Given the description of an element on the screen output the (x, y) to click on. 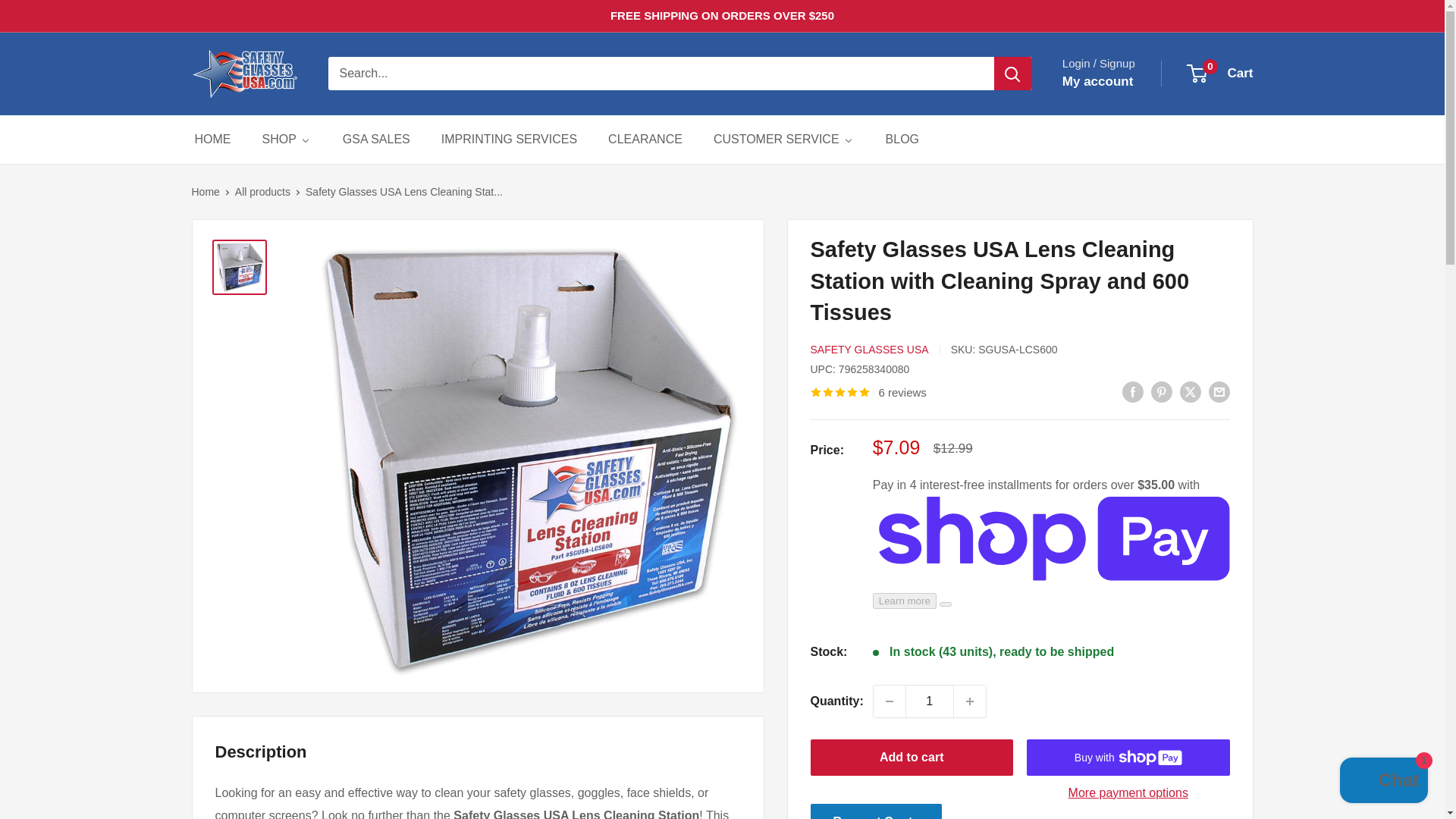
1 (929, 701)
